Given the description of an element on the screen output the (x, y) to click on. 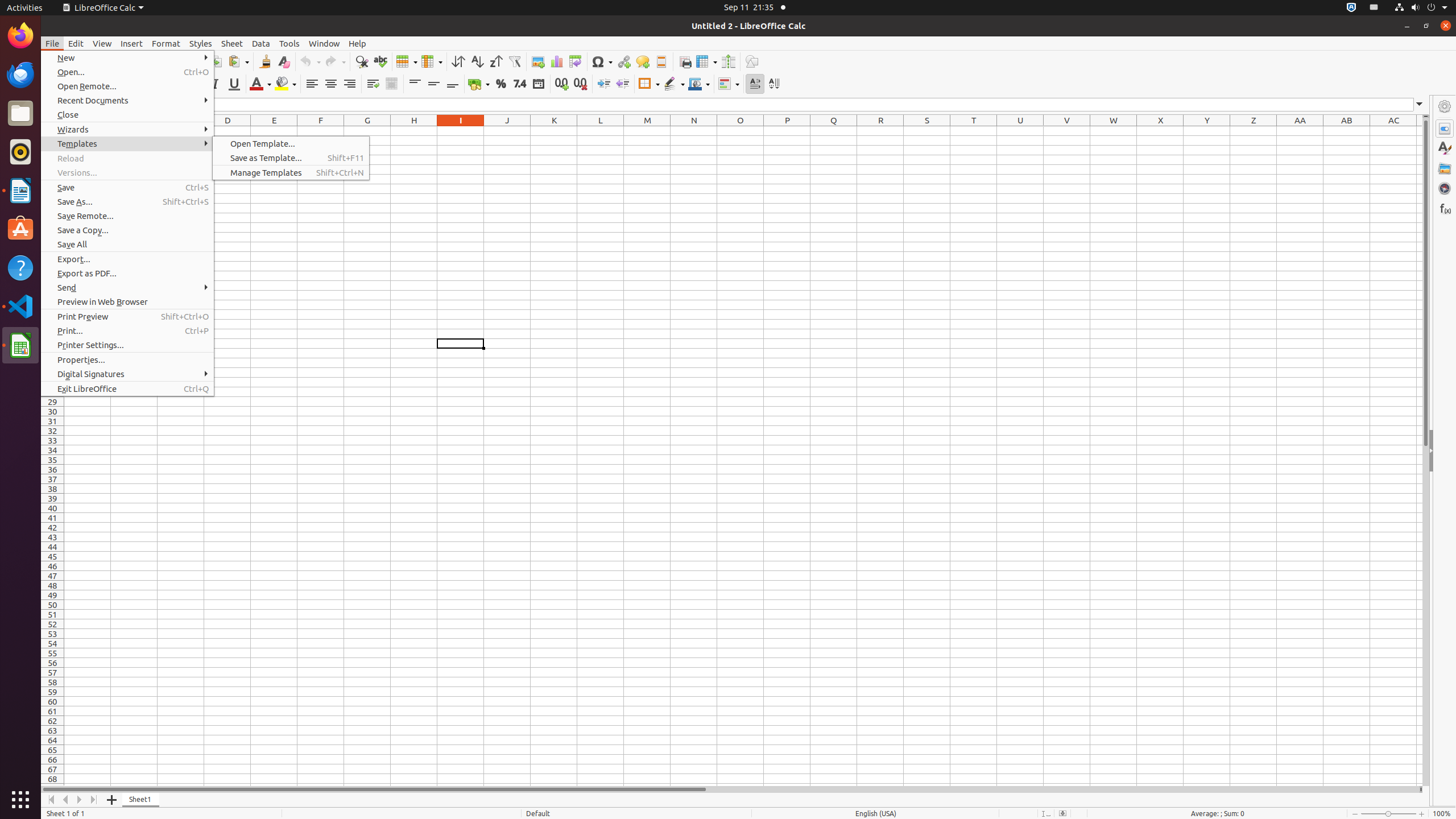
Print Area Element type: push-button (684, 61)
Open... Element type: menu-item (126, 71)
Sort Ascending Element type: push-button (476, 61)
T1 Element type: table-cell (973, 130)
Z1 Element type: table-cell (1253, 130)
